Given the description of an element on the screen output the (x, y) to click on. 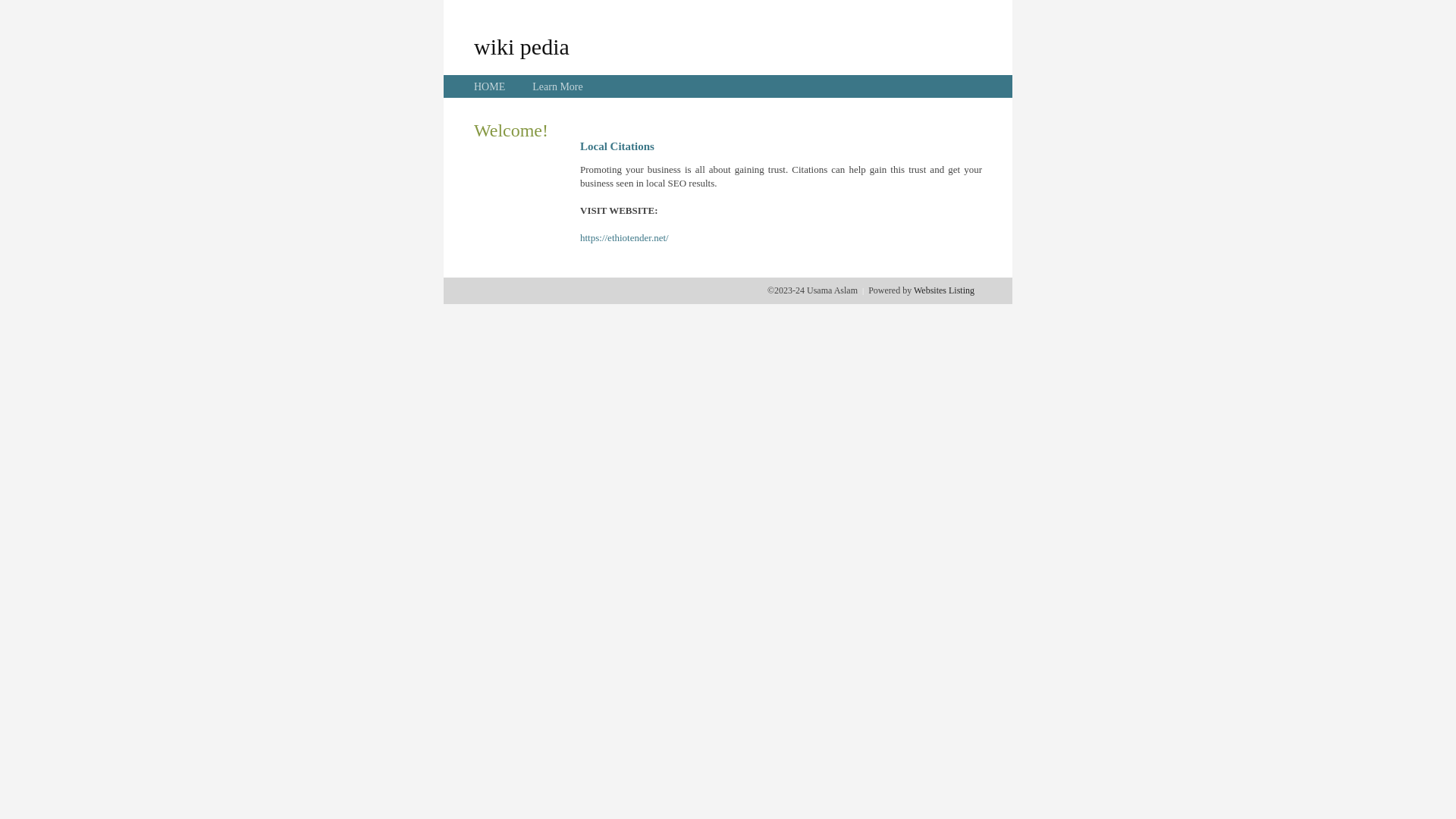
Learn More Element type: text (557, 86)
Websites Listing Element type: text (943, 290)
HOME Element type: text (489, 86)
wiki pedia Element type: text (521, 46)
https://ethiotender.net/ Element type: text (624, 237)
